Given the description of an element on the screen output the (x, y) to click on. 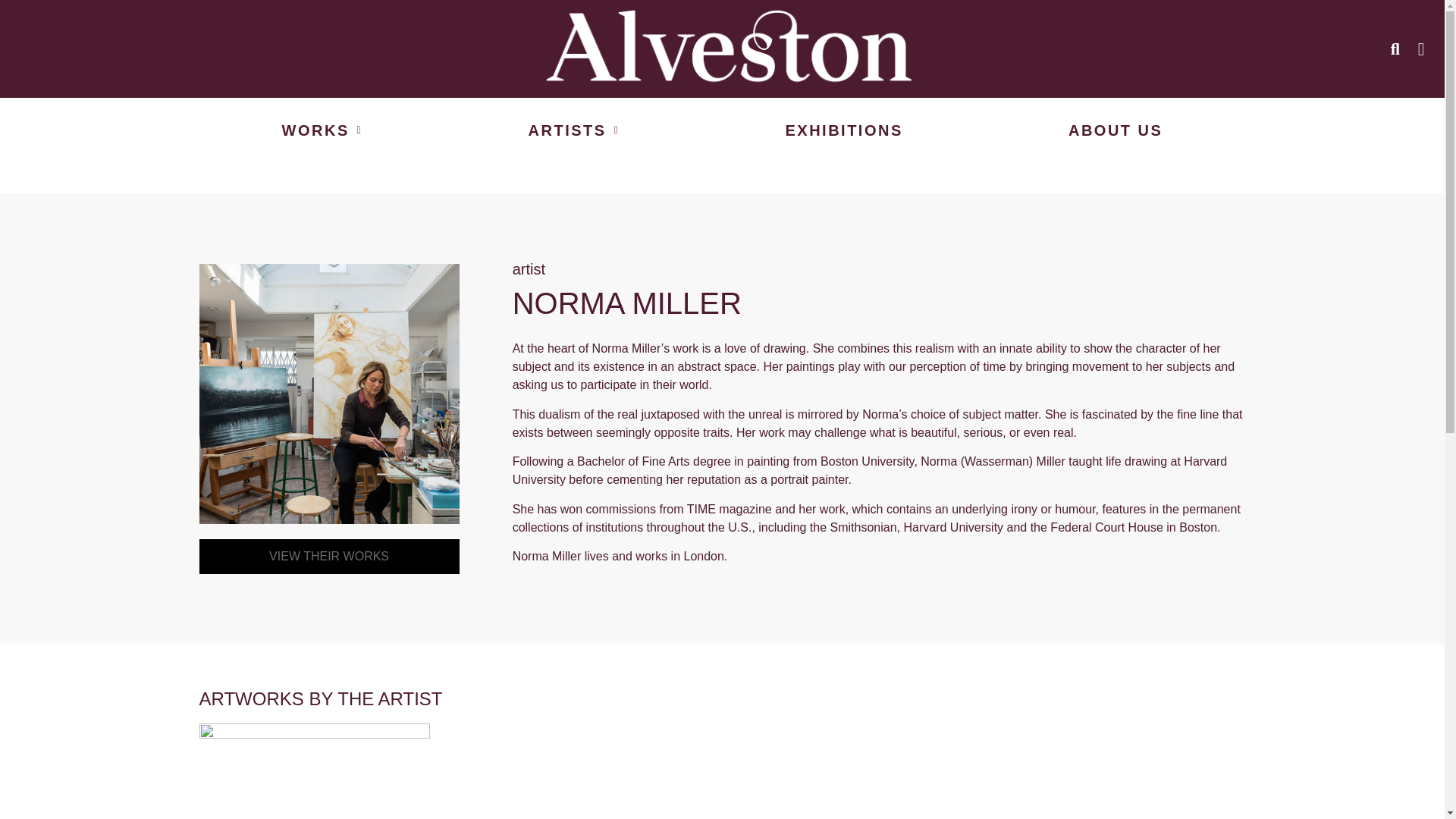
ABOUT US (1115, 130)
EXHIBITIONS (843, 130)
ARTISTS (573, 130)
WORKS (321, 130)
